Given the description of an element on the screen output the (x, y) to click on. 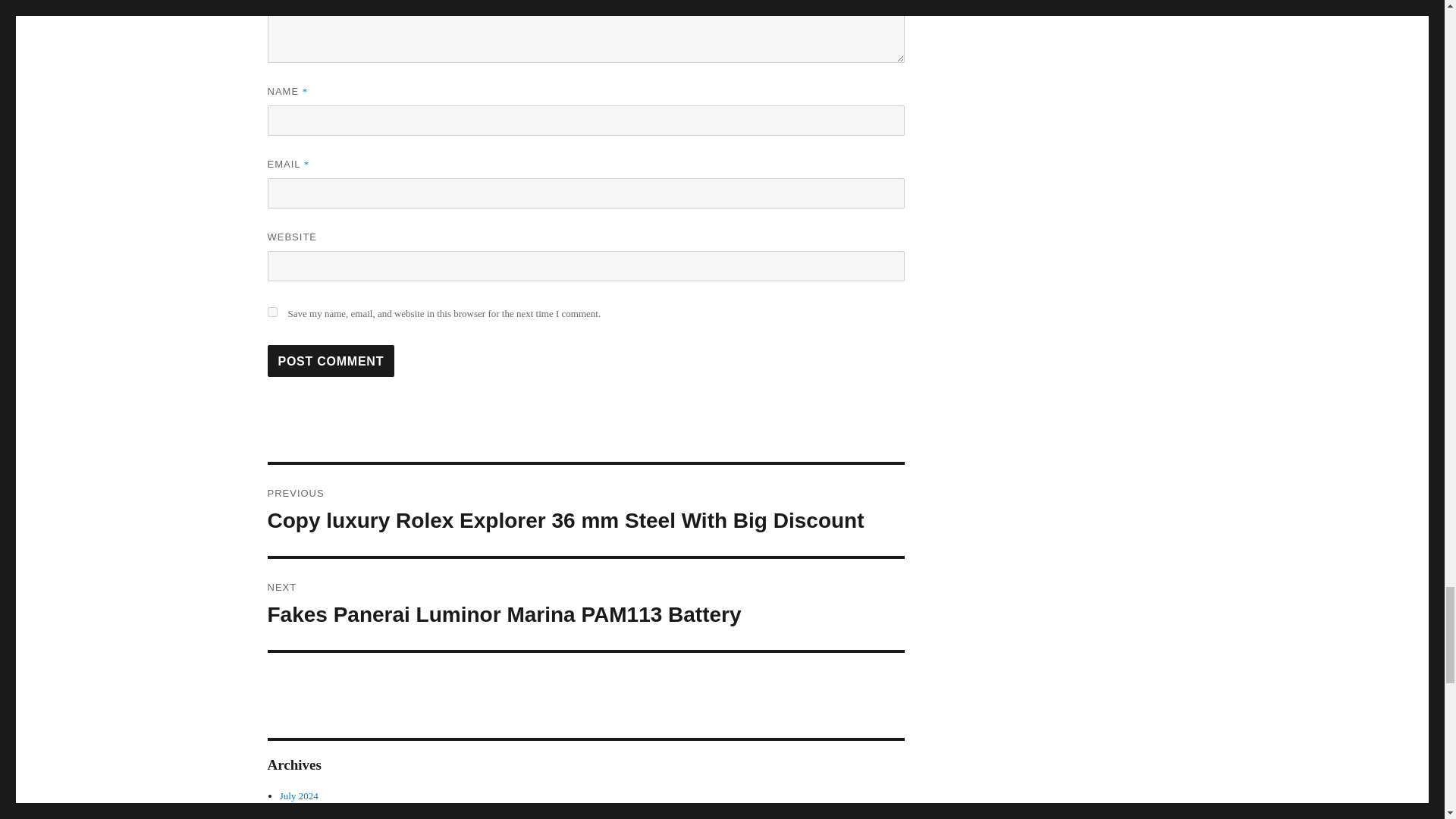
yes (271, 311)
Post Comment (330, 360)
Post Comment (330, 360)
July 2024 (585, 604)
June 2024 (298, 795)
